Given the description of an element on the screen output the (x, y) to click on. 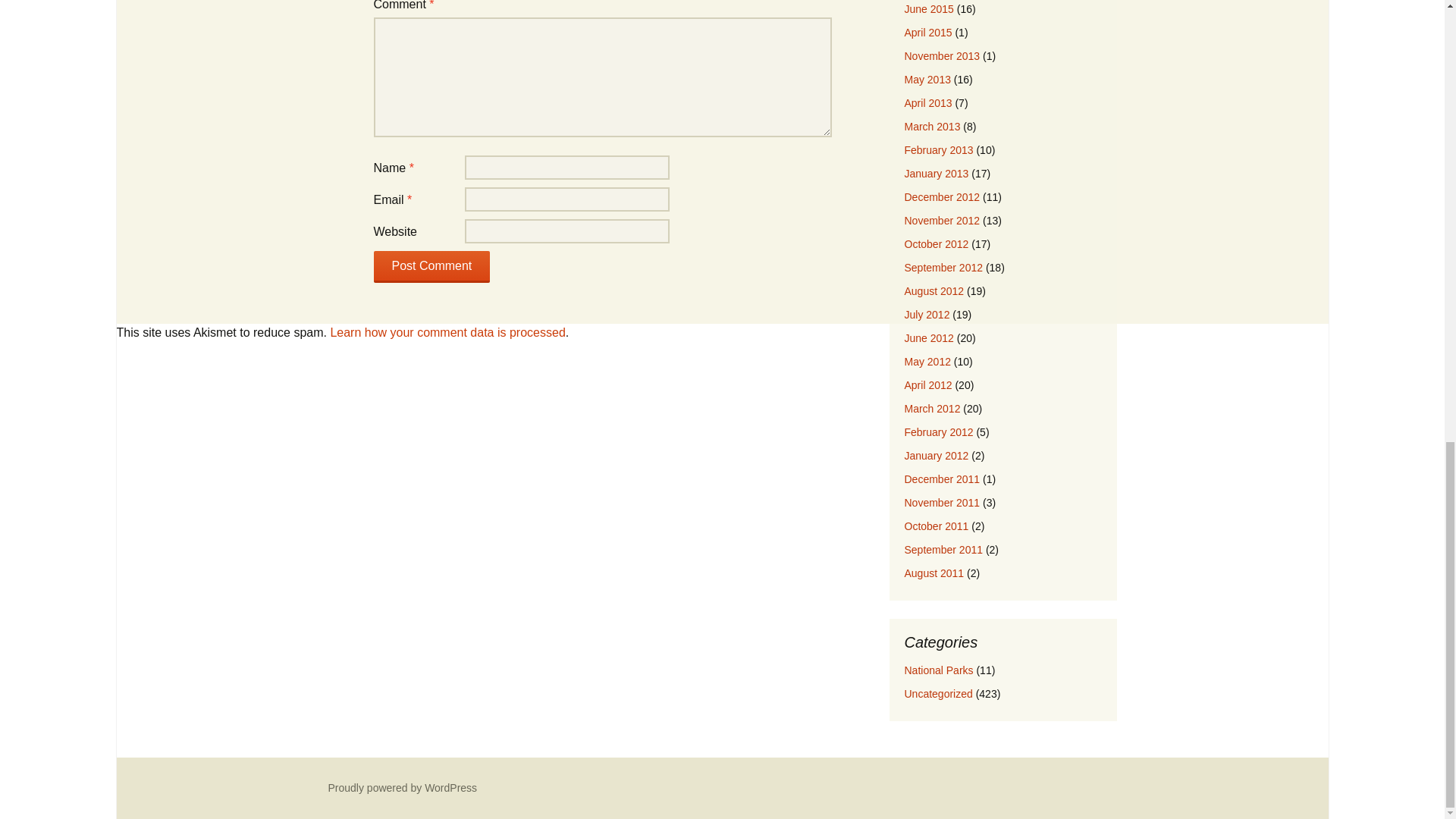
Post Comment (430, 266)
Post Comment (430, 266)
Learn how your comment data is processed (447, 332)
